Given the description of an element on the screen output the (x, y) to click on. 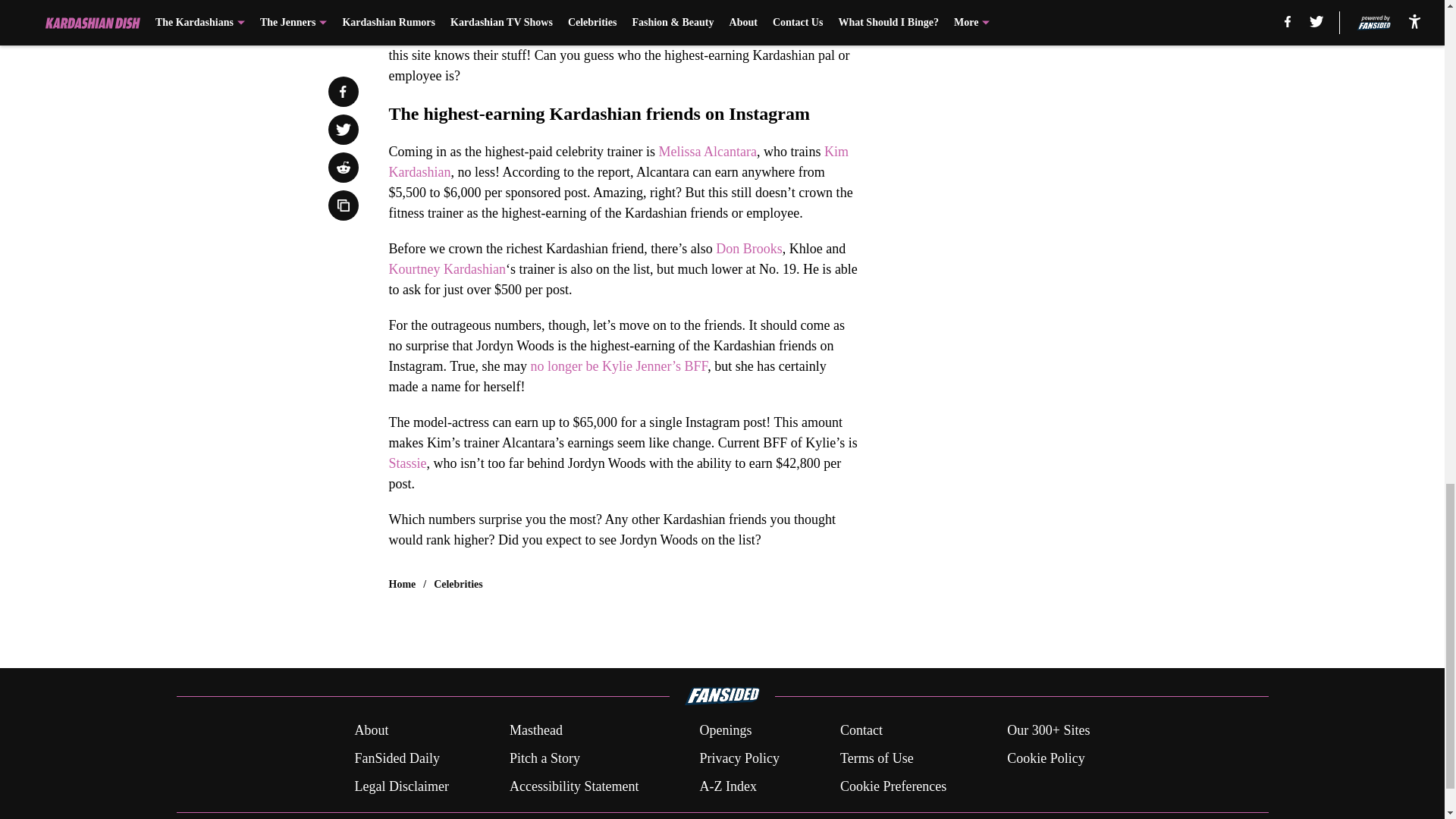
Kourtney Kardashian (446, 268)
Stassie (407, 462)
Celebrities (458, 584)
Don Brooks (749, 248)
Kim Kardashian (617, 161)
Melissa Alcantara (706, 151)
Home (401, 584)
